Given the description of an element on the screen output the (x, y) to click on. 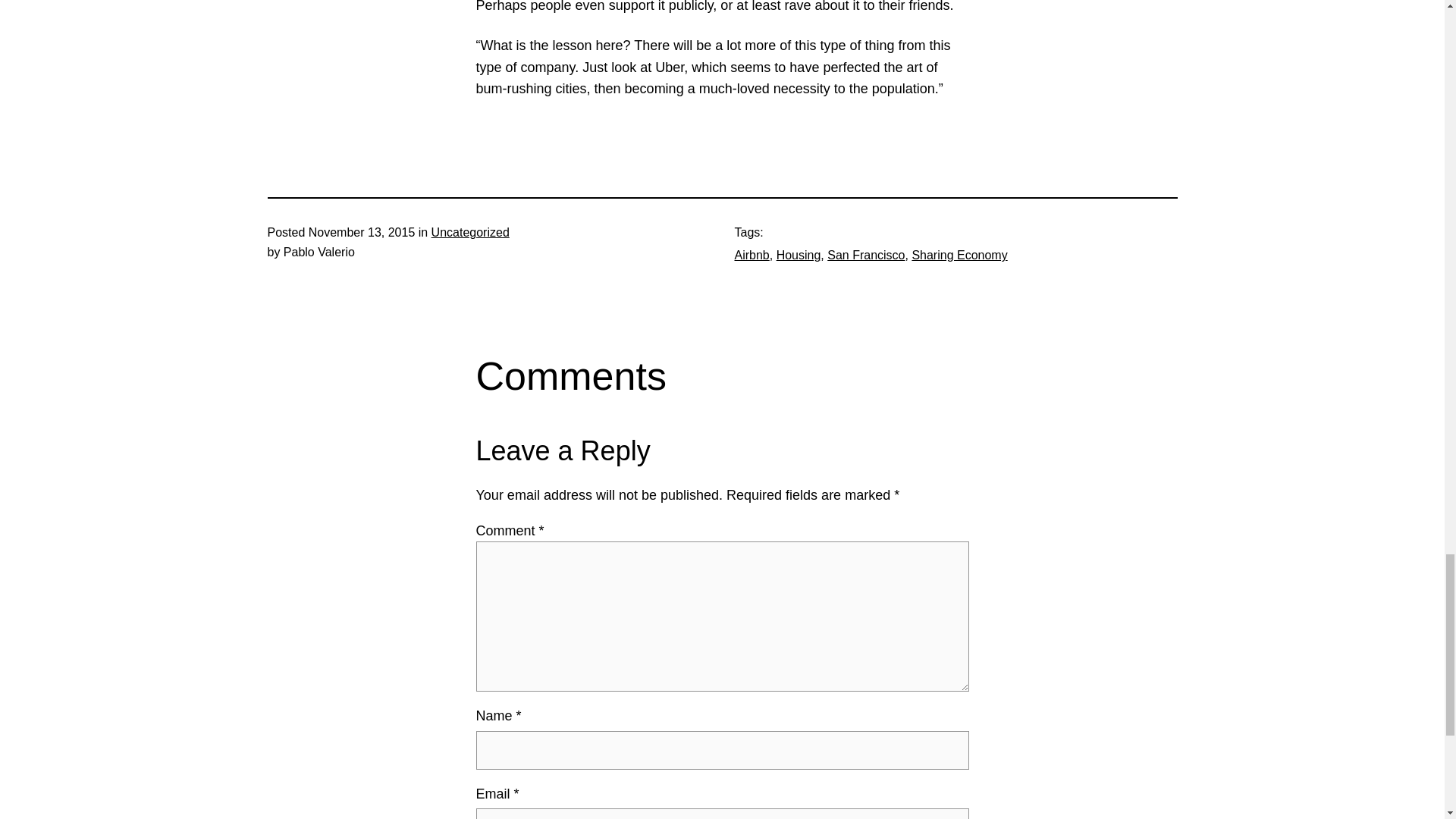
San Francisco (865, 254)
Sharing Economy (959, 254)
Airbnb (750, 254)
Uncategorized (469, 232)
Housing (798, 254)
